Given the description of an element on the screen output the (x, y) to click on. 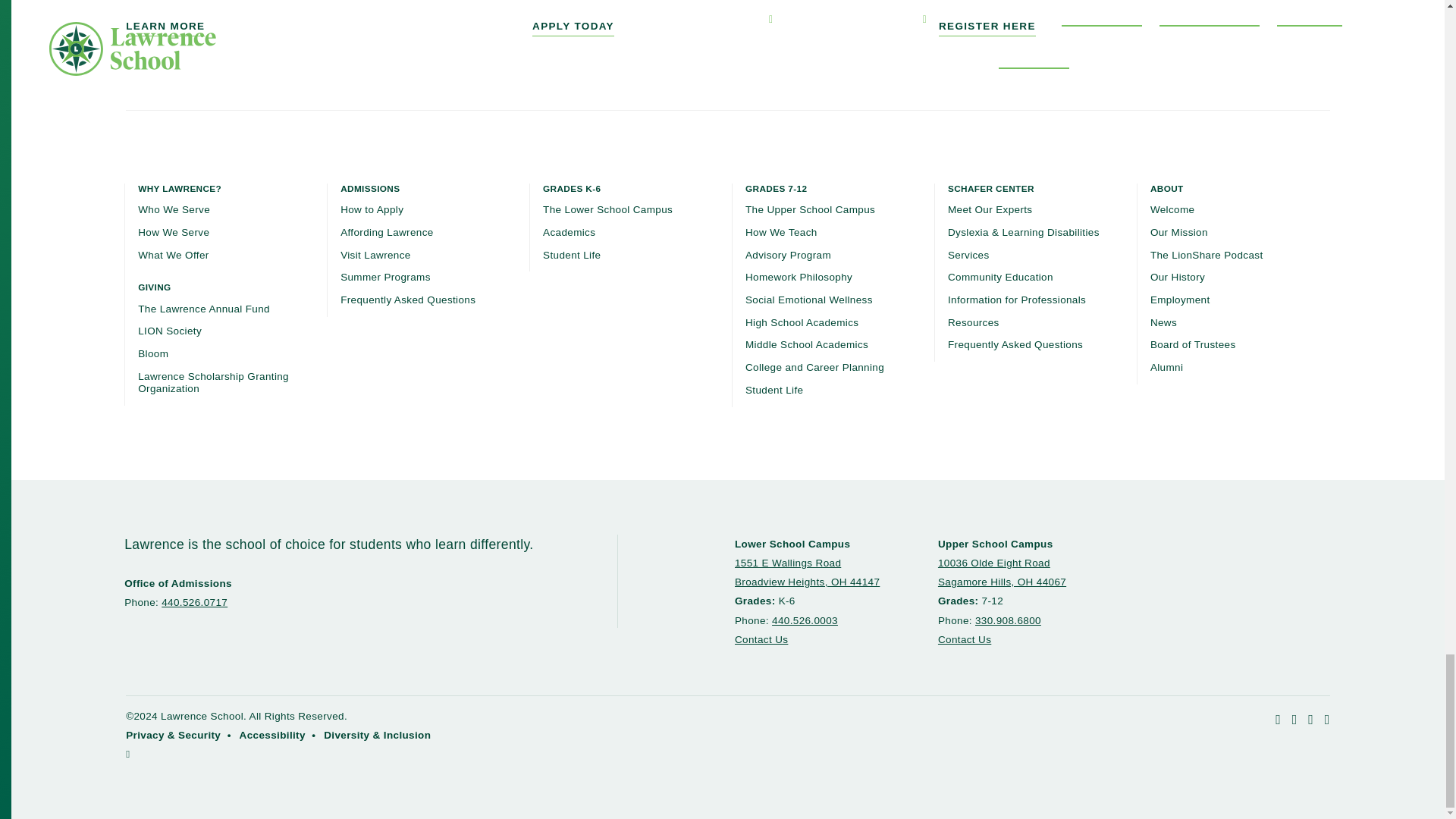
Orton-Gillingham. What is it? (320, 18)
Spend your lunch hour with us. (1134, 18)
Now registering for summer! (727, 18)
